Given the description of an element on the screen output the (x, y) to click on. 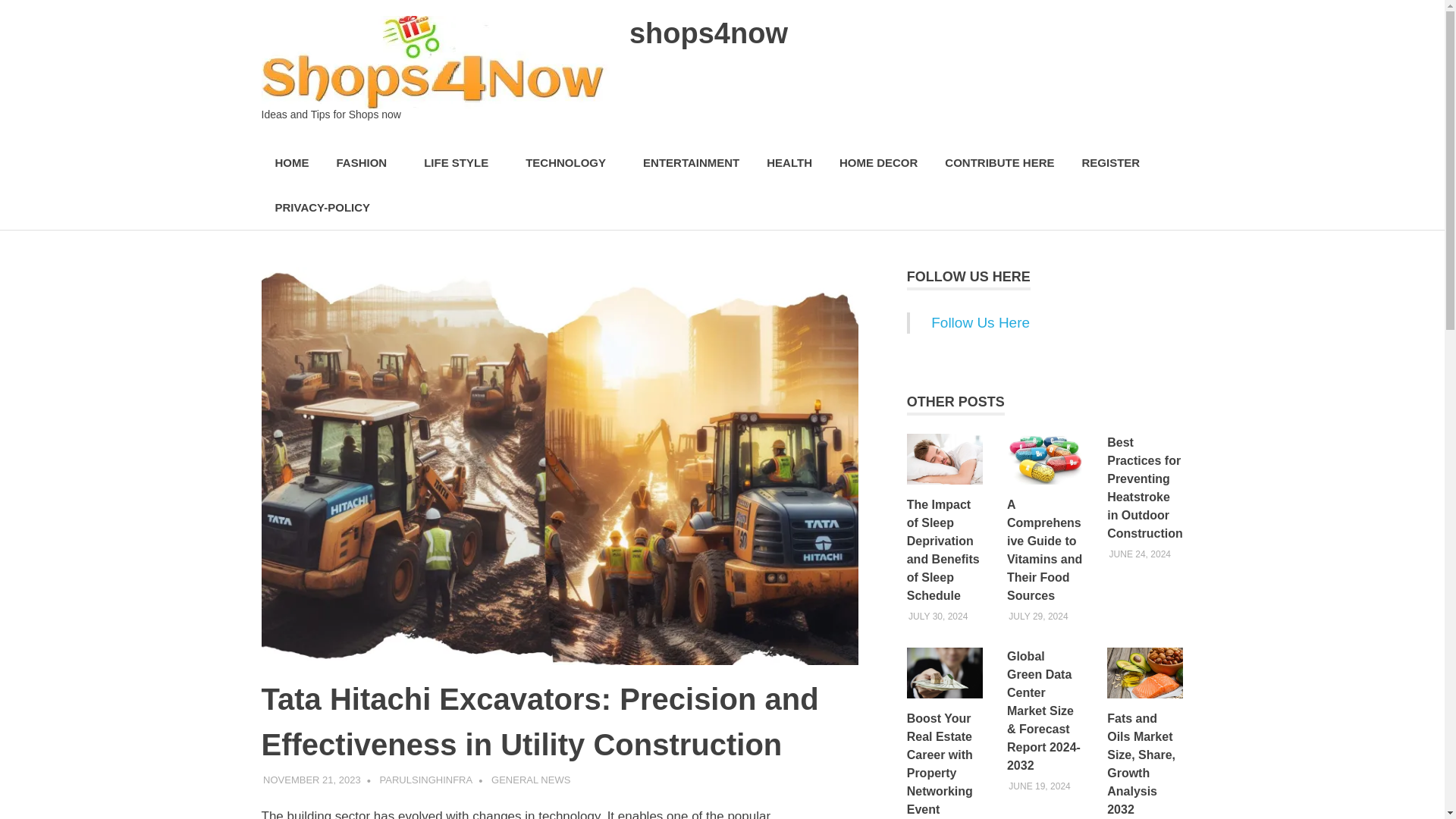
PRIVACY-POLICY (322, 207)
ENTERTAINMENT (690, 162)
HOME DECOR (878, 162)
PARULSINGHINFRA (426, 779)
HEALTH (788, 162)
CONTRIBUTE HERE (999, 162)
NOVEMBER 21, 2023 (312, 779)
GENERAL NEWS (531, 779)
FASHION (366, 162)
LIFE STYLE (461, 162)
2:46 pm (312, 779)
HOME (290, 162)
TECHNOLOGY (570, 162)
shops4now (707, 33)
REGISTER (1110, 162)
